Given the description of an element on the screen output the (x, y) to click on. 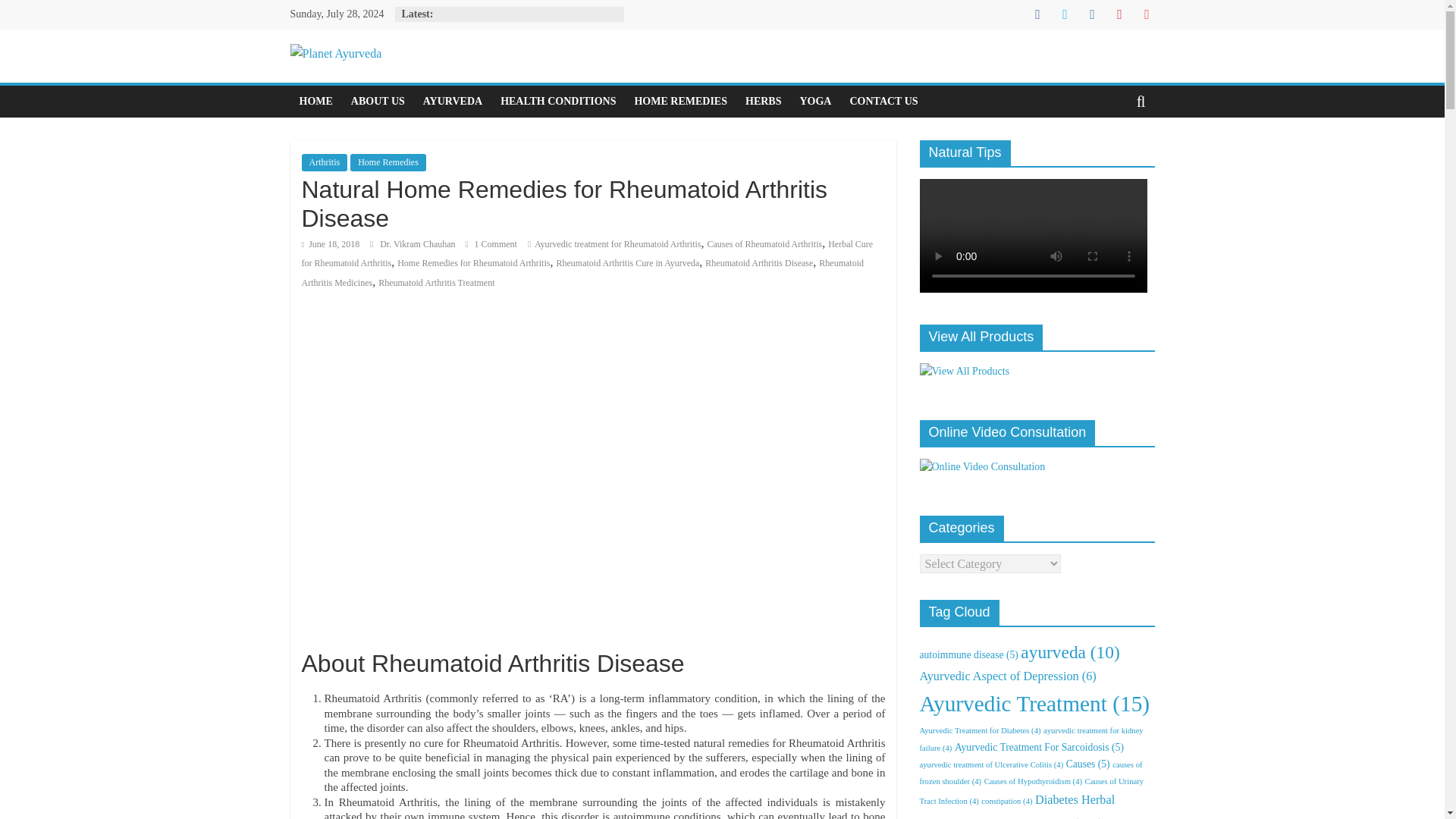
11:41 am (330, 244)
June 18, 2018 (330, 244)
Home Remedies (388, 161)
YOGA (815, 101)
HOME REMEDIES (680, 101)
Home Remedies for Rheumatoid Arthritis (473, 262)
Rheumatoid Arthritis Treatment (436, 282)
AYURVEDA (452, 101)
Rheumatoid Arthritis Disease (758, 262)
Ayurvedic treatment for Rheumatoid Arthritis (617, 244)
Dr. Vikram Chauhan (418, 244)
HEALTH CONDITIONS (558, 101)
HERBS (763, 101)
Causes of Rheumatoid Arthritis (764, 244)
ABOUT US (377, 101)
